Given the description of an element on the screen output the (x, y) to click on. 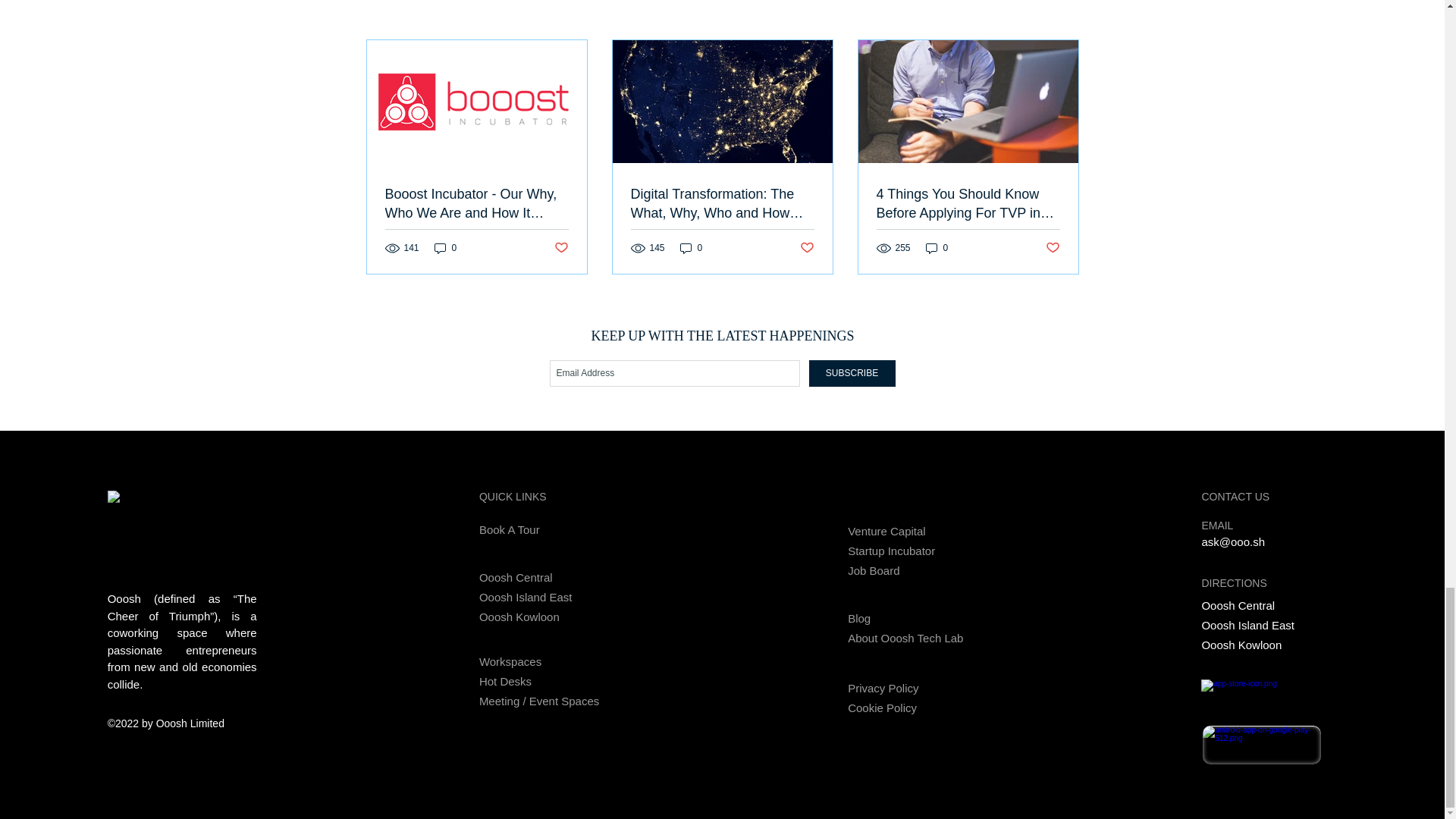
Post not marked as liked (806, 248)
0 (445, 247)
Booost Incubator - Our Why, Who We Are and How It Works. (477, 203)
Startup Incubator (904, 550)
Post not marked as liked (1052, 248)
Workspaces (519, 660)
Blog (889, 618)
Ooosh Island East (525, 596)
Hot Desks (519, 680)
Post not marked as liked (560, 248)
Venture Capital (904, 530)
0 (937, 247)
Job Board (904, 569)
SUBSCRIBE (851, 373)
